Given the description of an element on the screen output the (x, y) to click on. 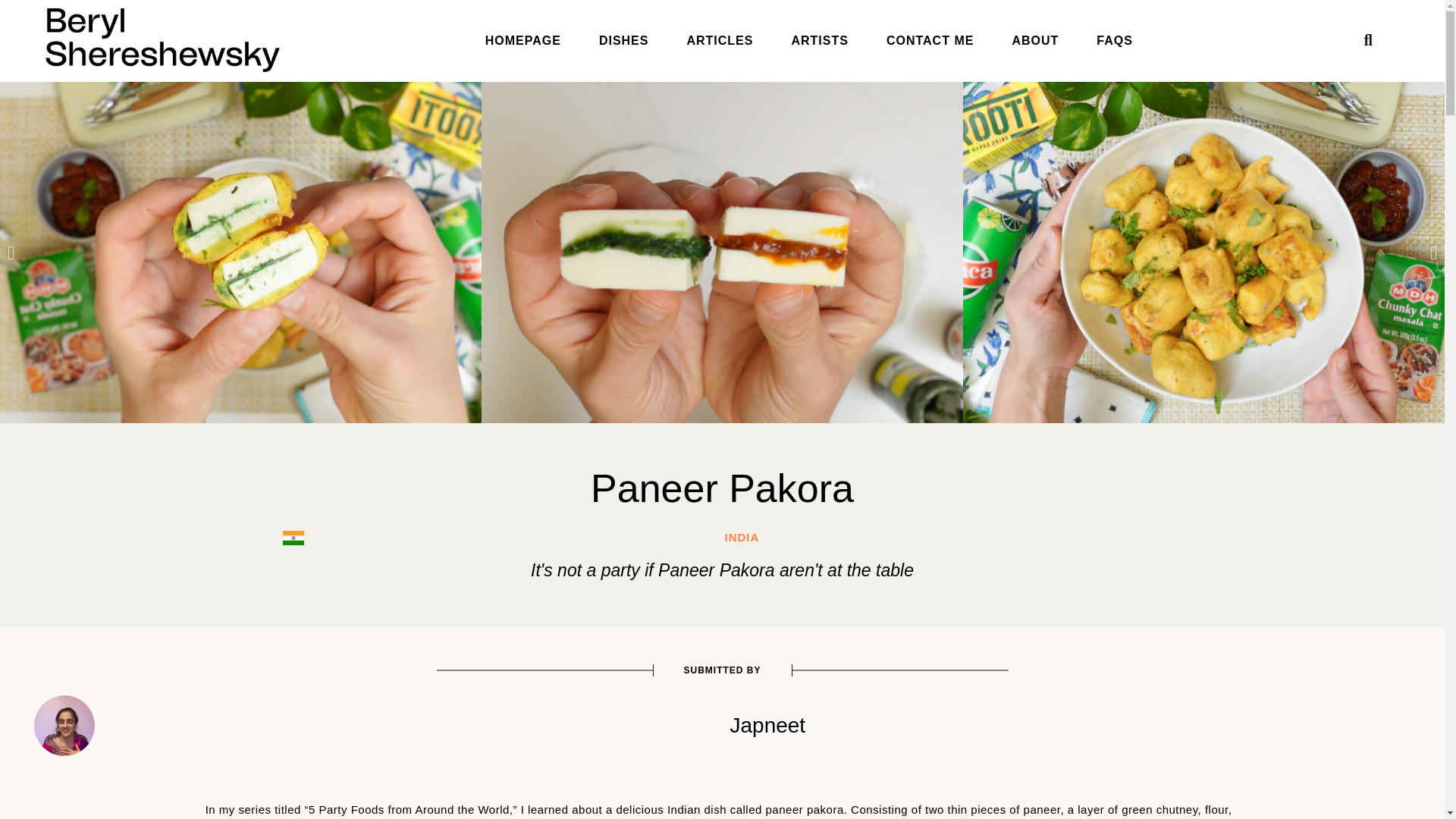
ARTISTS (818, 40)
CONTACT ME (930, 40)
DISHES (623, 40)
ARTICLES (718, 40)
HOMEPAGE (522, 40)
FAQS (1114, 40)
ABOUT (1034, 40)
